Given the description of an element on the screen output the (x, y) to click on. 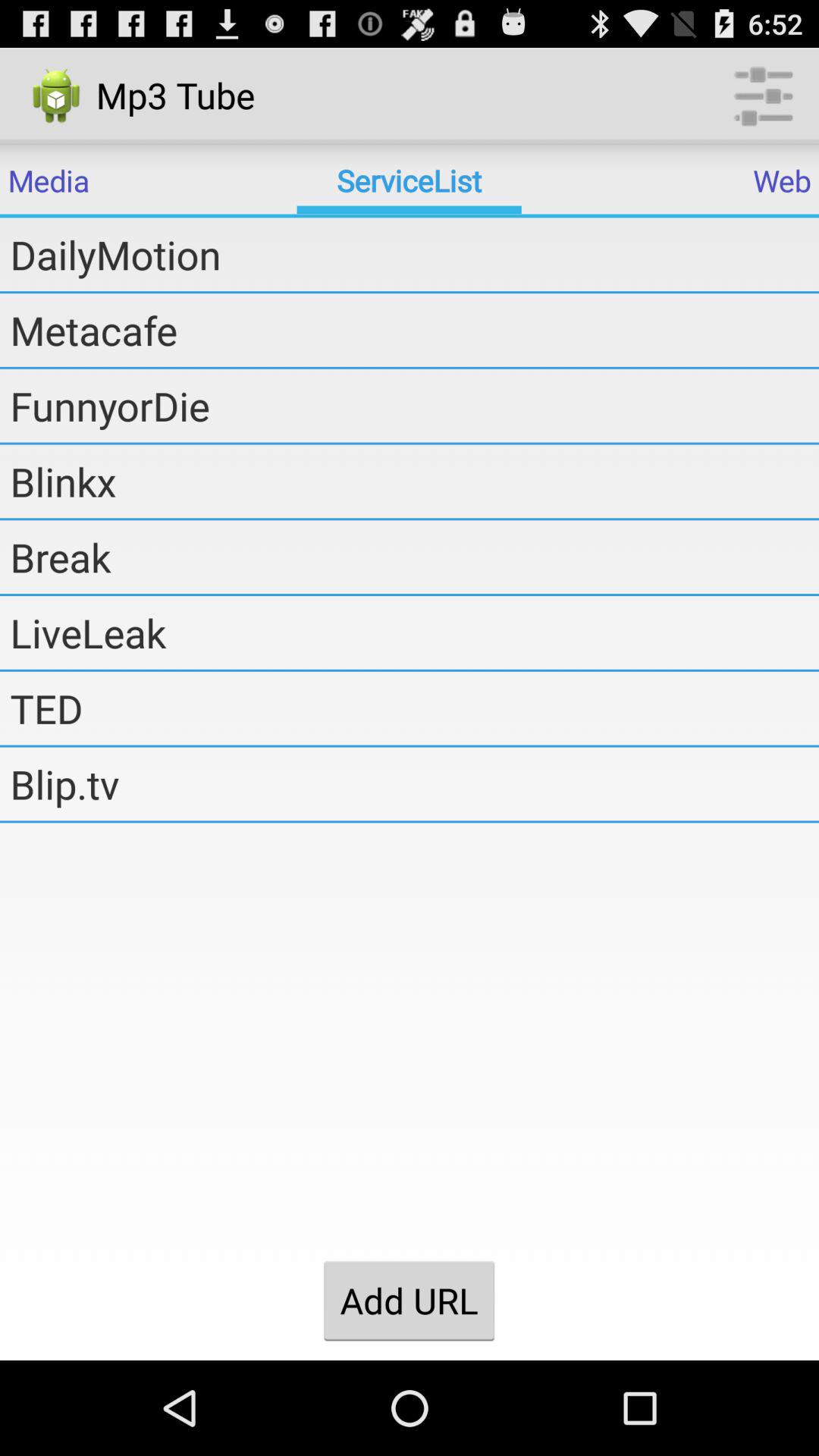
launch add url button (409, 1300)
